Given the description of an element on the screen output the (x, y) to click on. 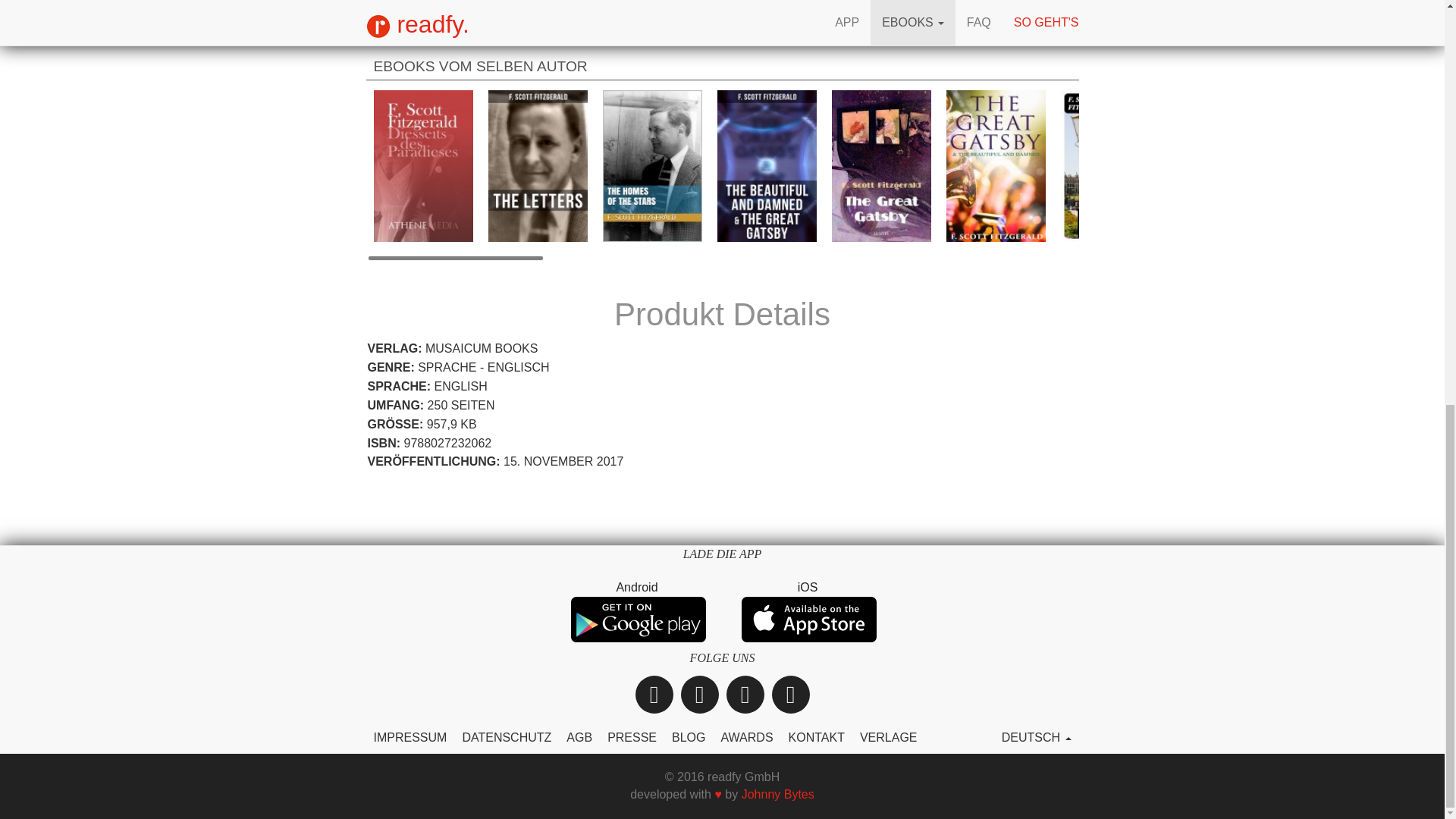
EBOOKS VOM SELBEN AUTOR (721, 63)
